Given the description of an element on the screen output the (x, y) to click on. 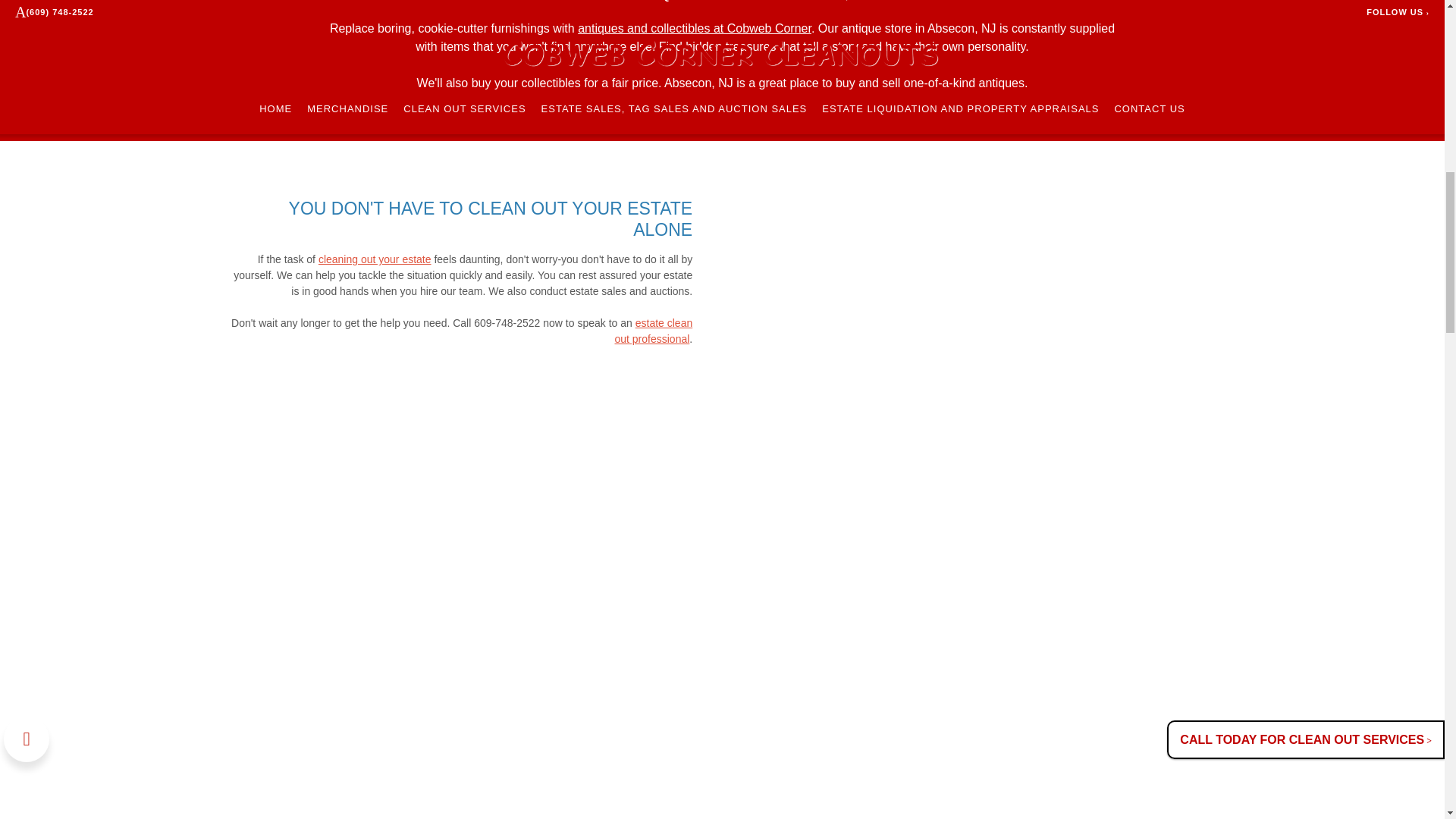
cleaning out your estate (374, 259)
antiques and collectibles at Cobweb Corner (694, 28)
estate clean out professional (653, 330)
